Given the description of an element on the screen output the (x, y) to click on. 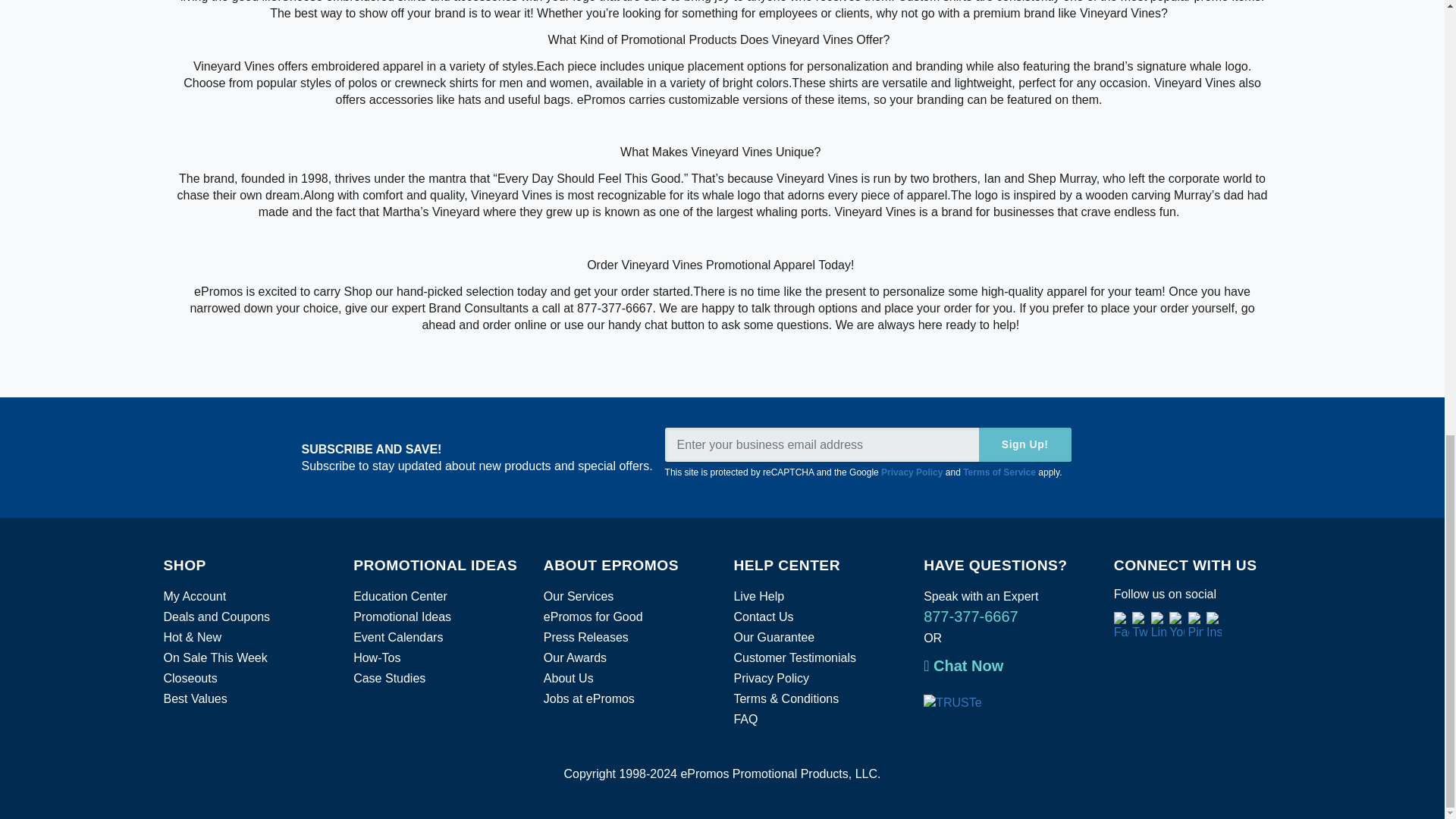
Sign Up! (1024, 444)
email address (868, 444)
